Given the description of an element on the screen output the (x, y) to click on. 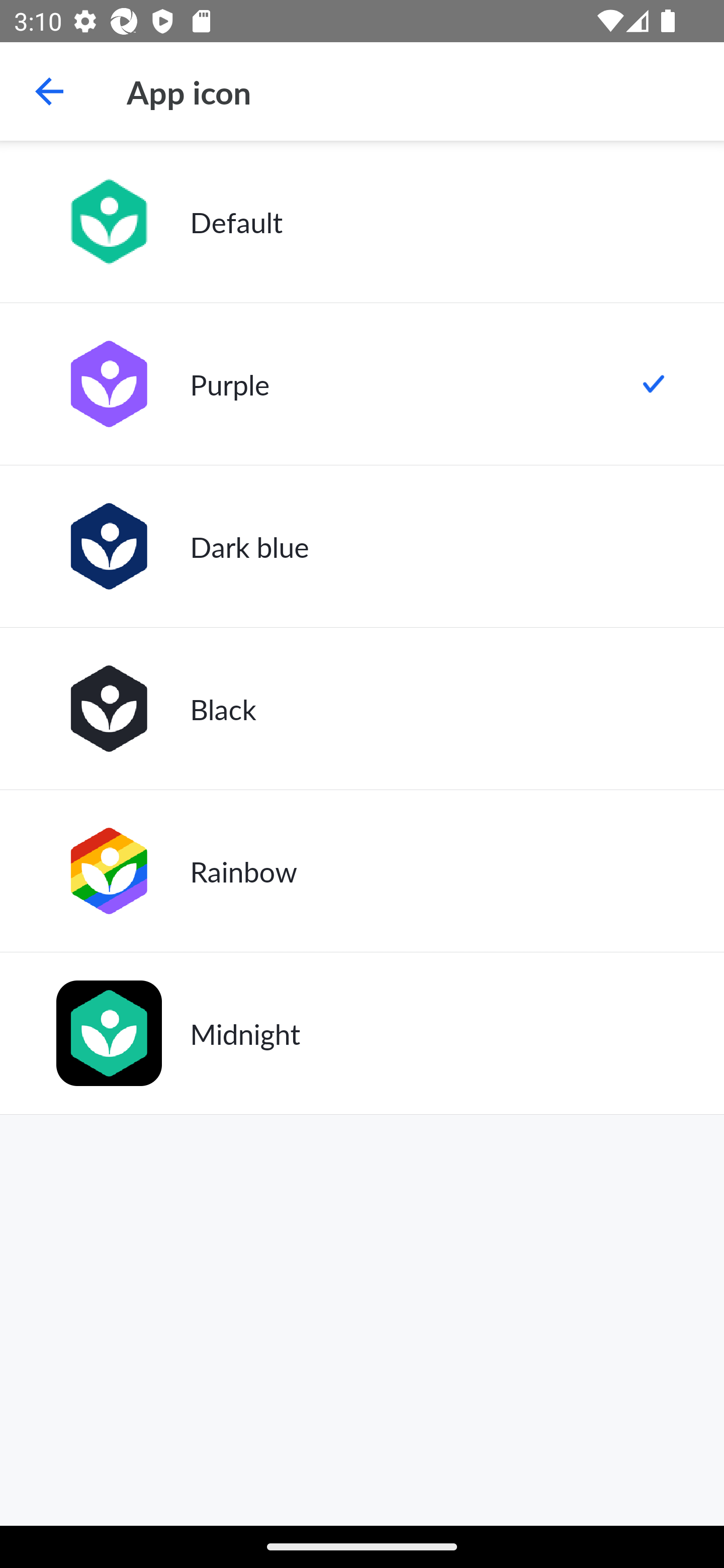
Navigate up (49, 91)
Default (362, 221)
Purple Checkmark (362, 383)
Dark blue (362, 546)
Black (362, 708)
Rainbow (362, 870)
Midnight (362, 1032)
